Given the description of an element on the screen output the (x, y) to click on. 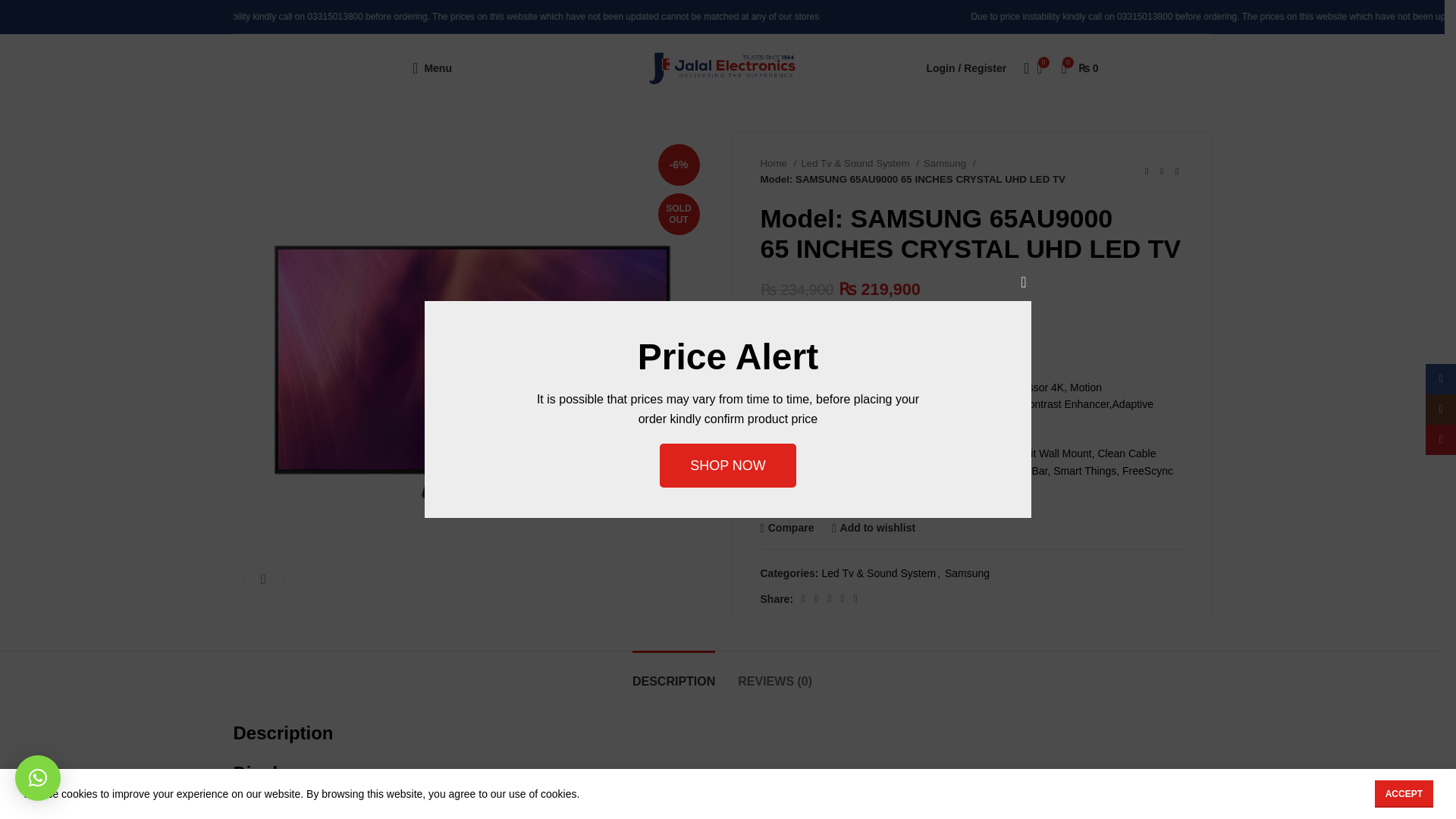
Compare (786, 527)
Samsung (949, 163)
Home (778, 163)
Menu (432, 68)
Shopping cart (1080, 68)
My account (965, 68)
Samsung (967, 573)
DESCRIPTION (672, 673)
SHOP NOW (727, 465)
Add to wishlist (873, 527)
